Given the description of an element on the screen output the (x, y) to click on. 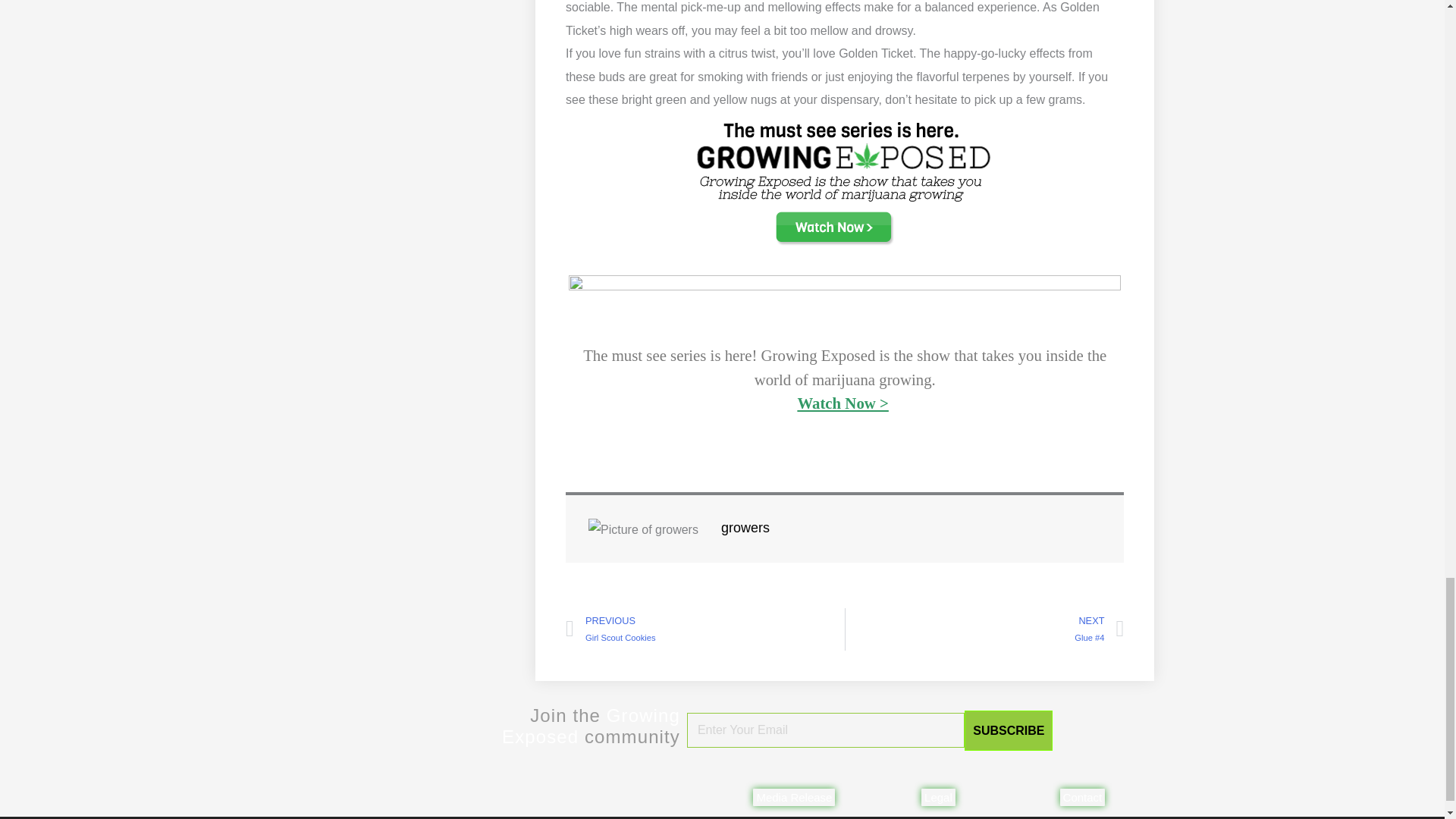
SUBSCRIBE (1007, 730)
Golden Ticket 3 (844, 182)
